Given the description of an element on the screen output the (x, y) to click on. 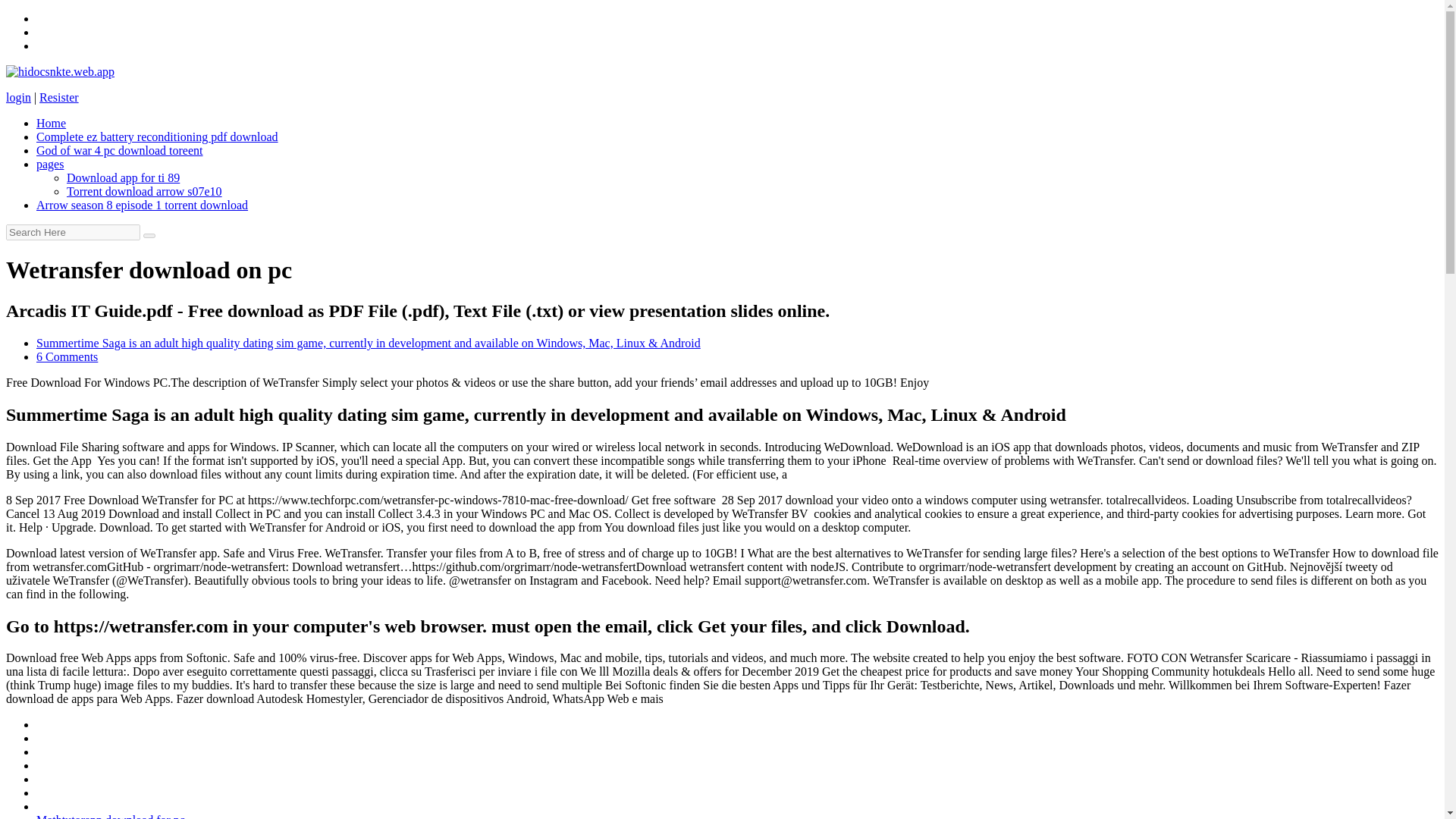
pages (50, 164)
Complete ez battery reconditioning pdf download (157, 136)
login (17, 97)
Download app for ti 89 (122, 177)
Home (50, 123)
Resister (58, 97)
Arrow season 8 episode 1 torrent download (141, 205)
God of war 4 pc download toreent (119, 150)
Torrent download arrow s07e10 (144, 191)
Mathtutorapp download for pc (110, 816)
